Given the description of an element on the screen output the (x, y) to click on. 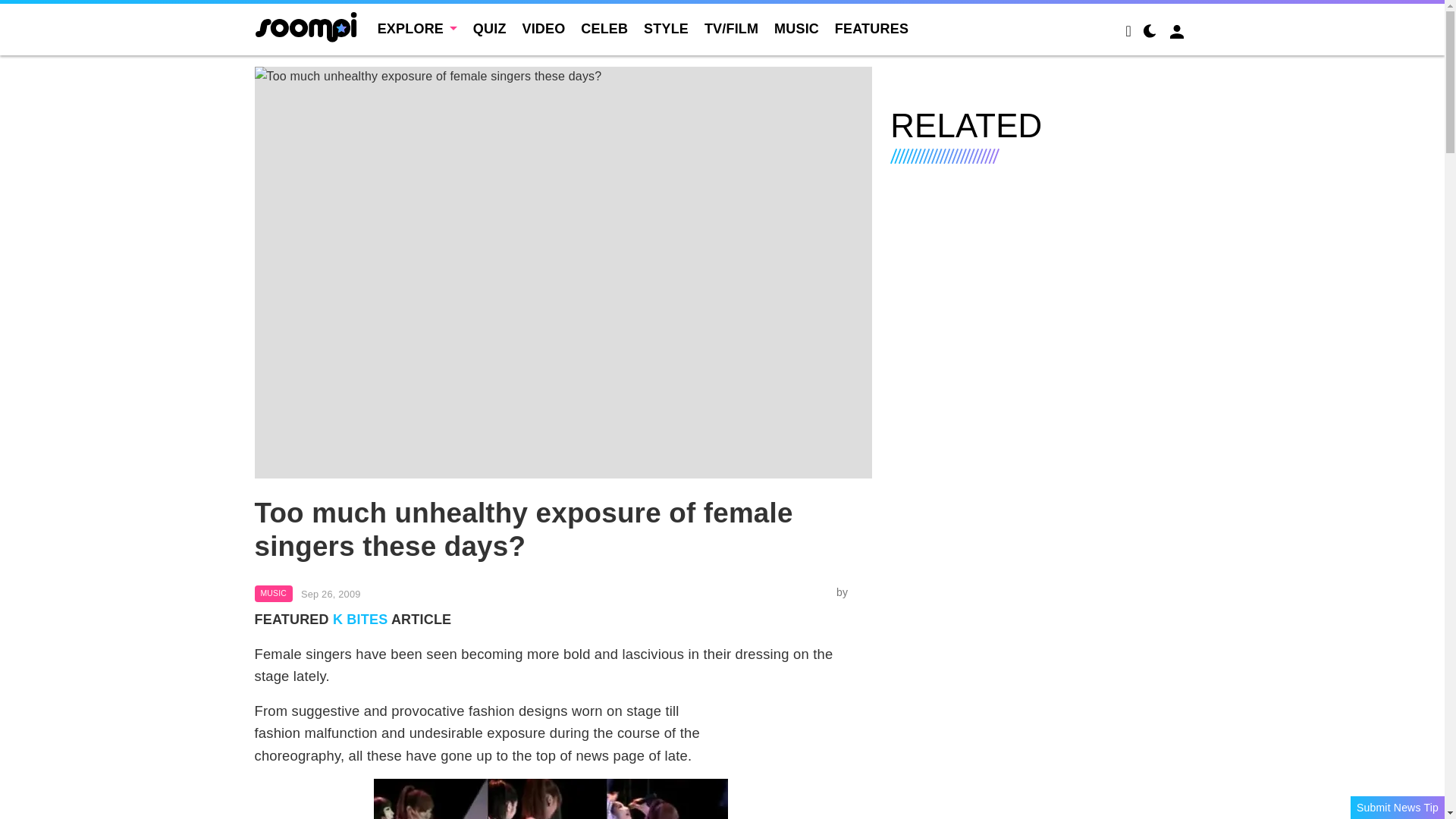
Night Mode Toggle (1149, 33)
CELEB (603, 28)
MUSIC (796, 28)
QUIZ (489, 28)
MUSIC (273, 593)
EXPLORE (417, 28)
STYLE (665, 28)
FEATURES (871, 28)
Music (273, 593)
VIDEO (542, 28)
